Given the description of an element on the screen output the (x, y) to click on. 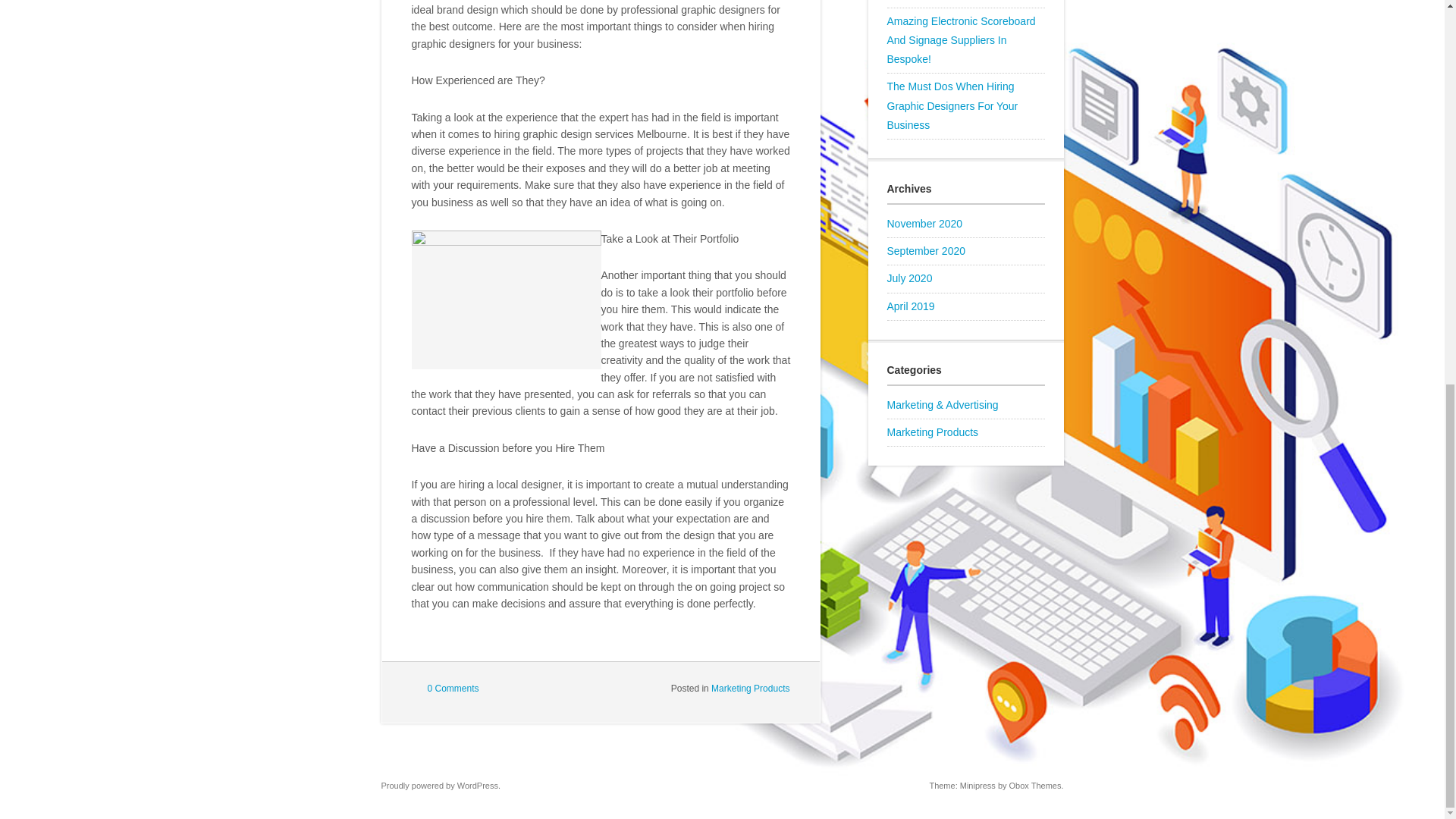
0 Comments (453, 688)
April 2019 (910, 306)
Marketing Products (750, 688)
November 2020 (924, 223)
September 2020 (926, 250)
Marketing Products (932, 431)
graphics tablet.jpg (504, 299)
July 2020 (909, 277)
The Must Dos When Hiring Graphic Designers For Your Business (951, 105)
